Given the description of an element on the screen output the (x, y) to click on. 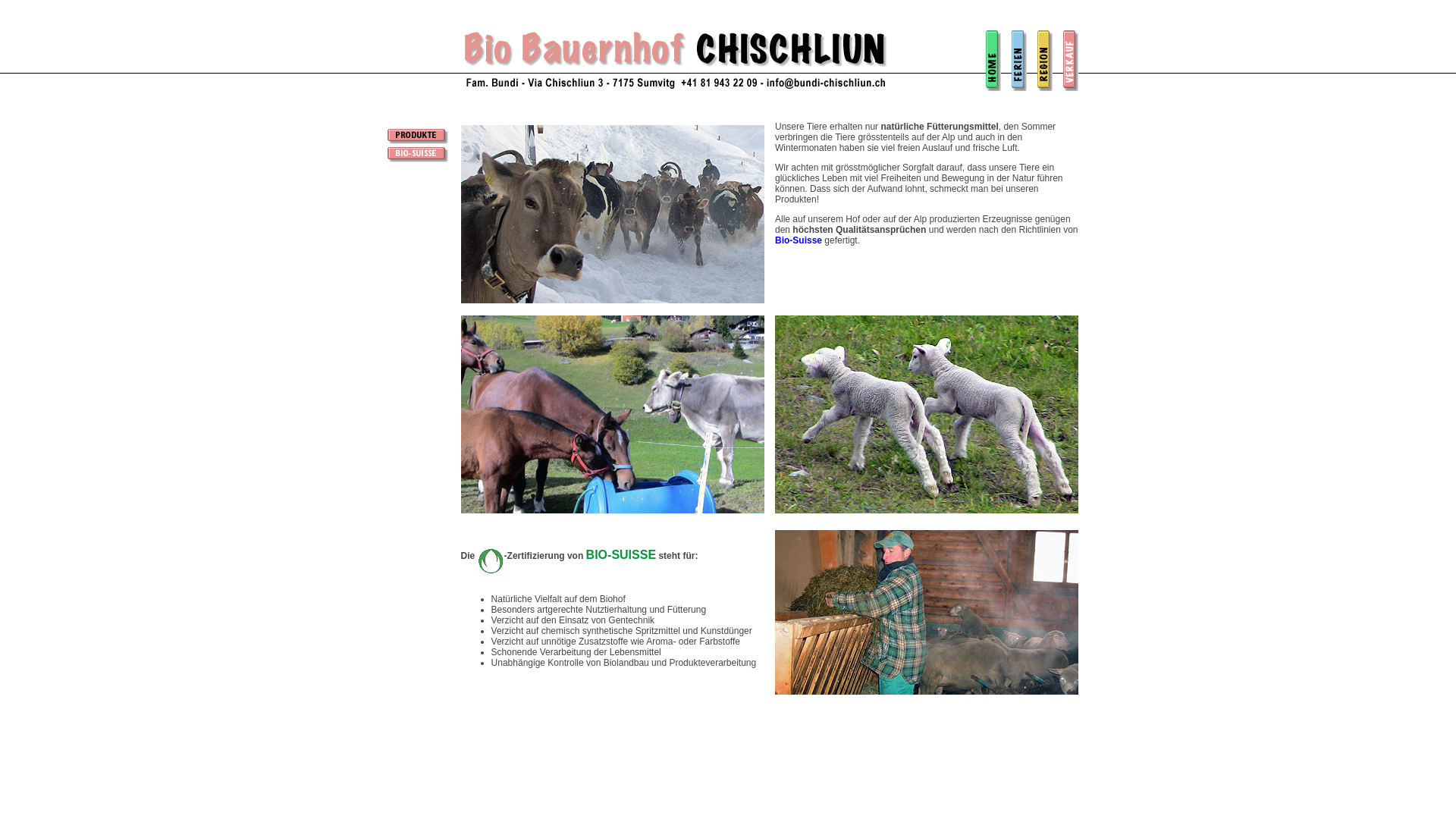
Bio-Suisse Element type: text (798, 240)
